Given the description of an element on the screen output the (x, y) to click on. 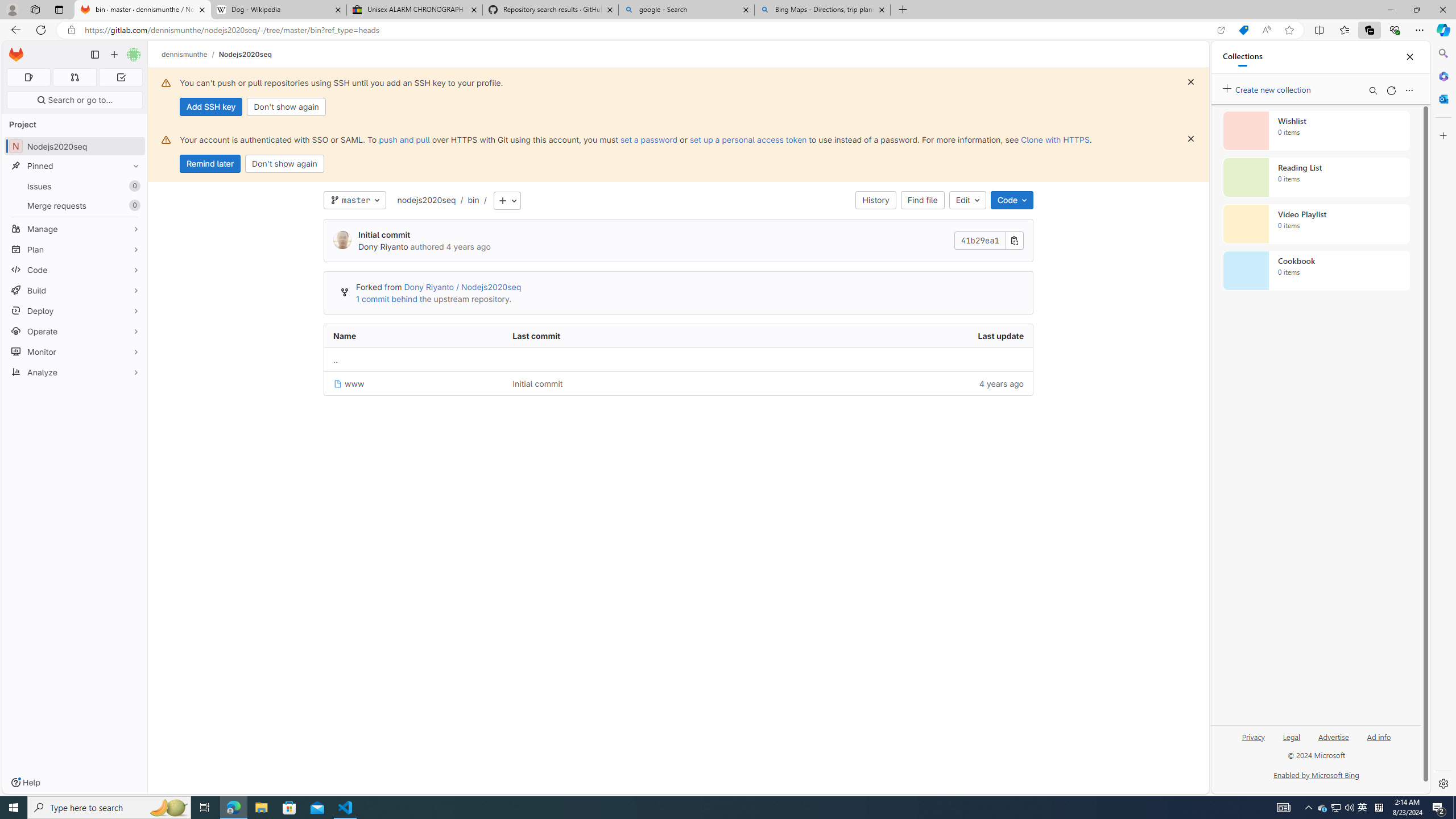
Class: s16 position-relative file-icon (337, 384)
Merge requests 0 (74, 205)
Clone with HTTPS (1054, 139)
Deploy (74, 310)
Build (74, 289)
dennismunthe (184, 53)
Dog - Wikipedia (277, 9)
Issues 0 (74, 185)
